Given the description of an element on the screen output the (x, y) to click on. 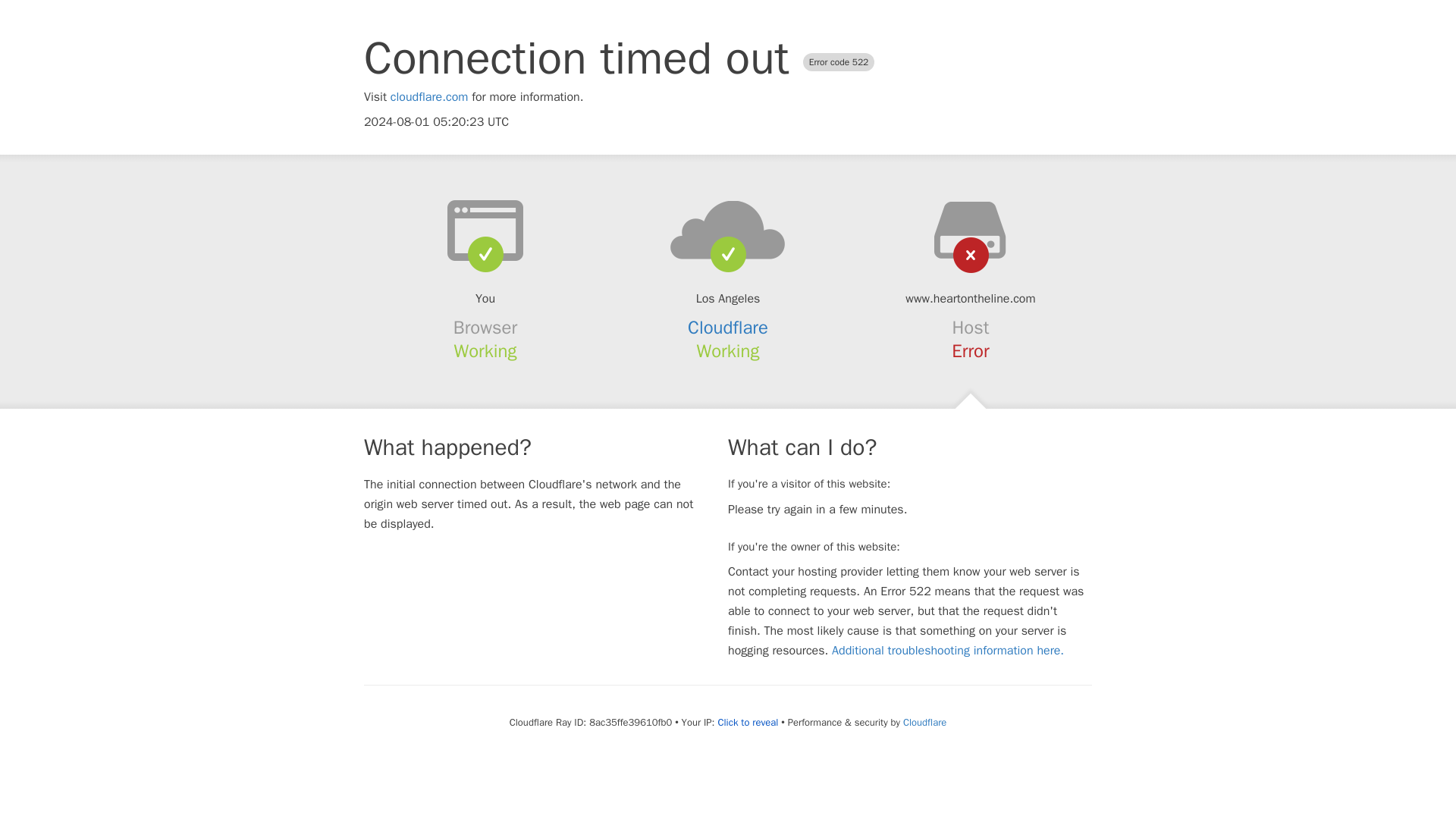
Cloudflare (727, 327)
cloudflare.com (429, 96)
Cloudflare (924, 721)
Additional troubleshooting information here. (947, 650)
Click to reveal (747, 722)
